Given the description of an element on the screen output the (x, y) to click on. 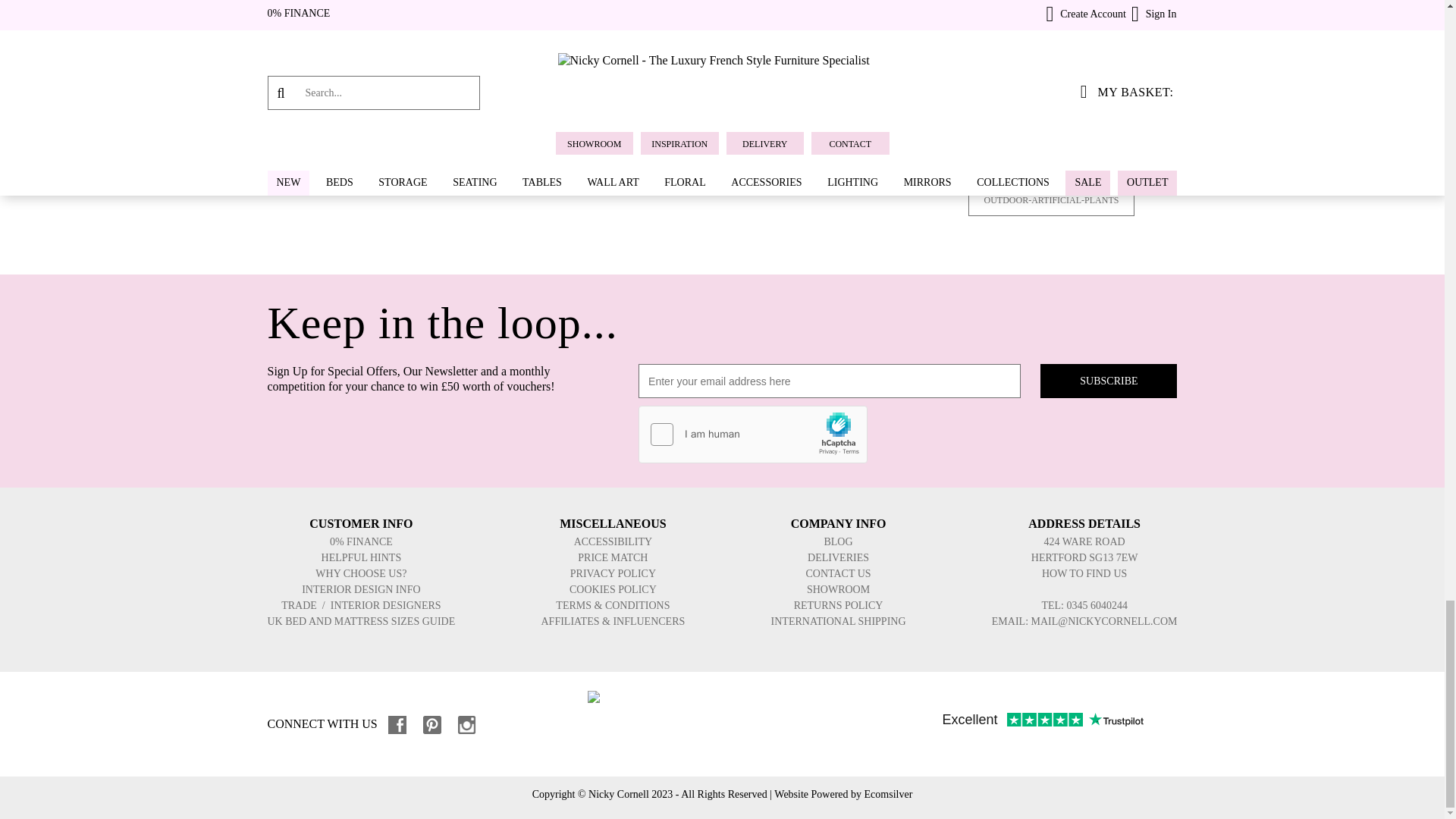
Customer reviews powered by Trustpilot (1041, 720)
Widget containing checkbox for hCaptcha security challenge (753, 435)
Subscribe (1108, 380)
